Given the description of an element on the screen output the (x, y) to click on. 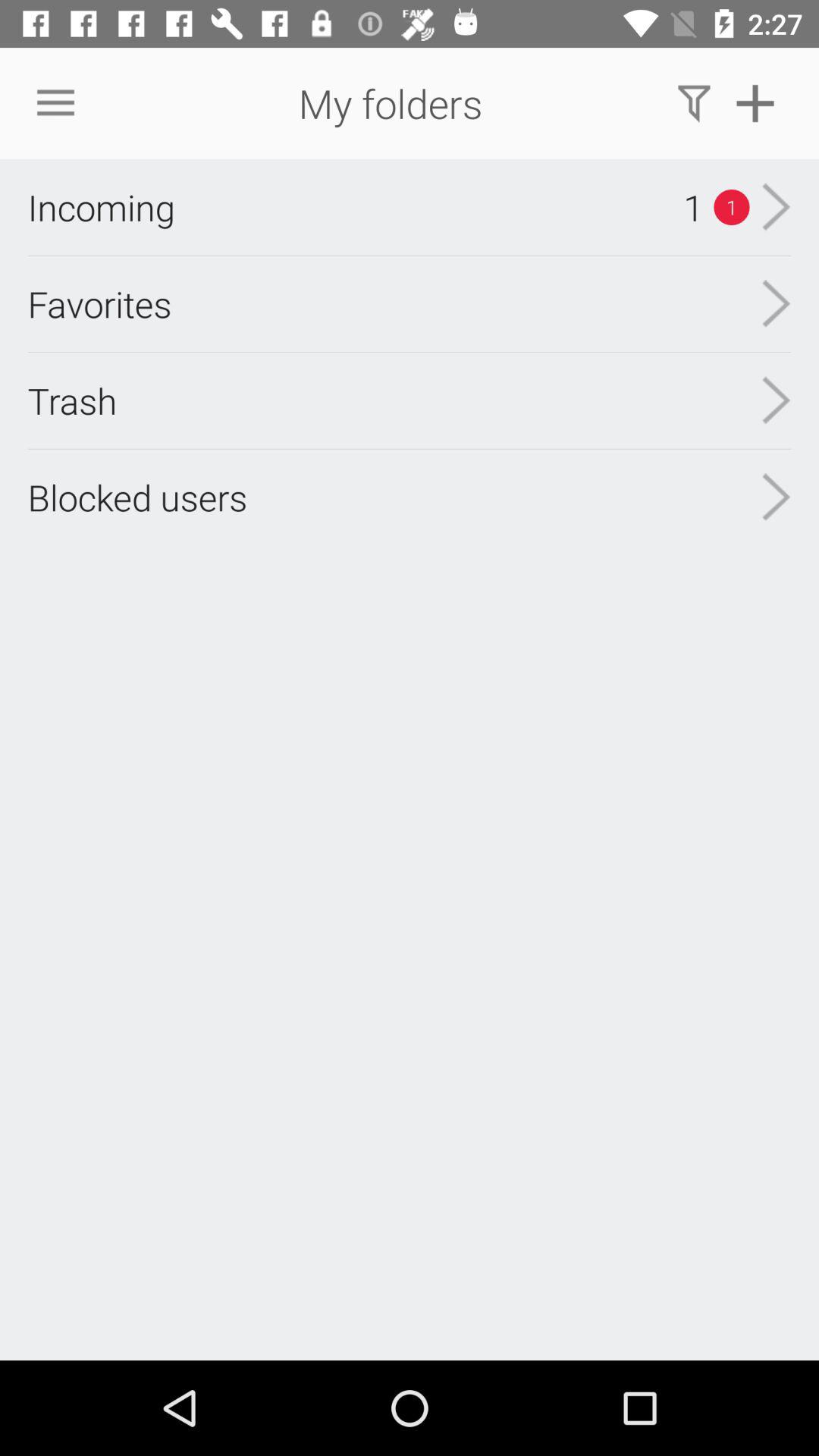
jump to incoming (101, 207)
